Given the description of an element on the screen output the (x, y) to click on. 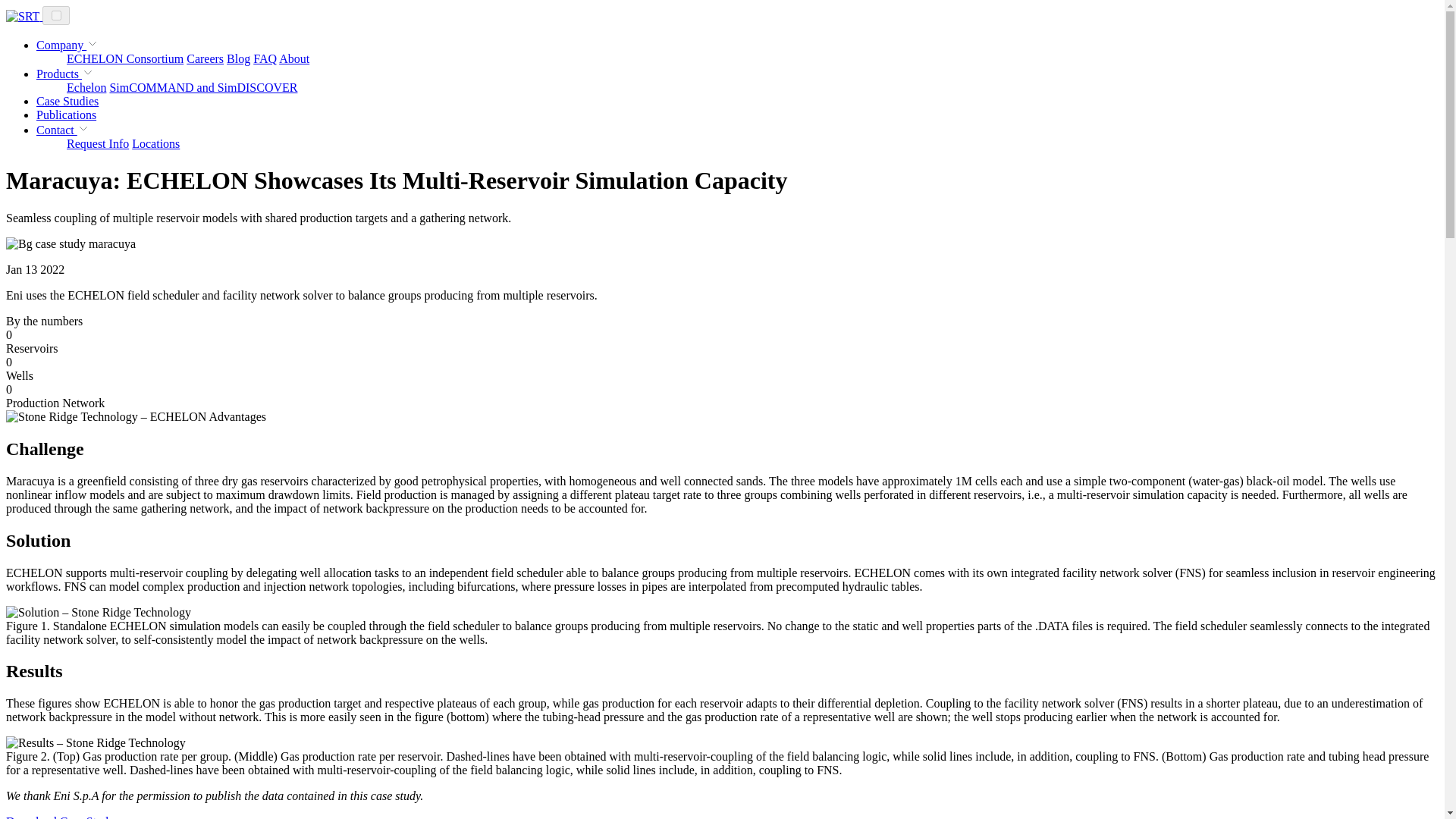
Echelon (86, 87)
Request Info (97, 143)
FAQ (264, 58)
Careers (205, 58)
Blog (238, 58)
Company (67, 44)
Case Studies (67, 101)
Products (65, 73)
About (293, 58)
Publications (66, 114)
SimCOMMAND and SimDISCOVER (203, 87)
ECHELON Consortium (124, 58)
Download Case Study (60, 816)
Contact (62, 129)
on (55, 15)
